Given the description of an element on the screen output the (x, y) to click on. 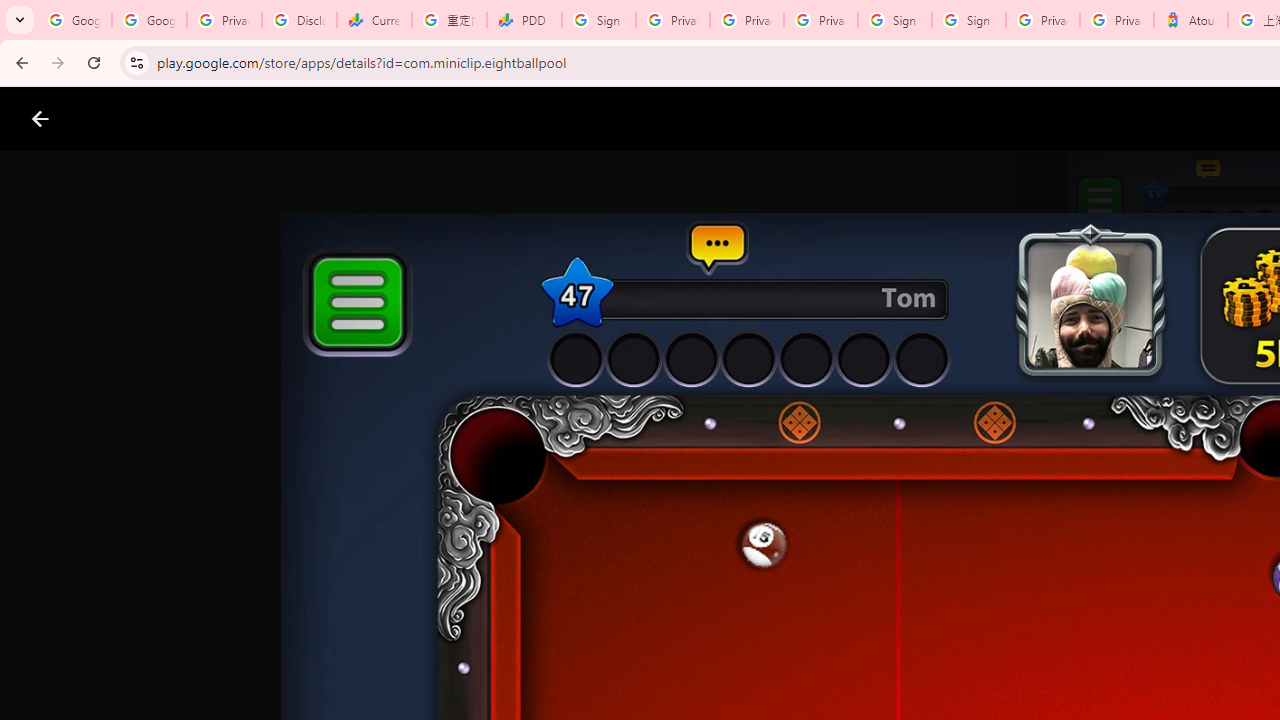
Sign in - Google Accounts (894, 20)
Kids (385, 119)
Currencies - Google Finance (374, 20)
Sign in - Google Accounts (598, 20)
Google Workspace Admin Community (74, 20)
Apps (321, 119)
Games (248, 119)
Privacy Checkup (747, 20)
